Given the description of an element on the screen output the (x, y) to click on. 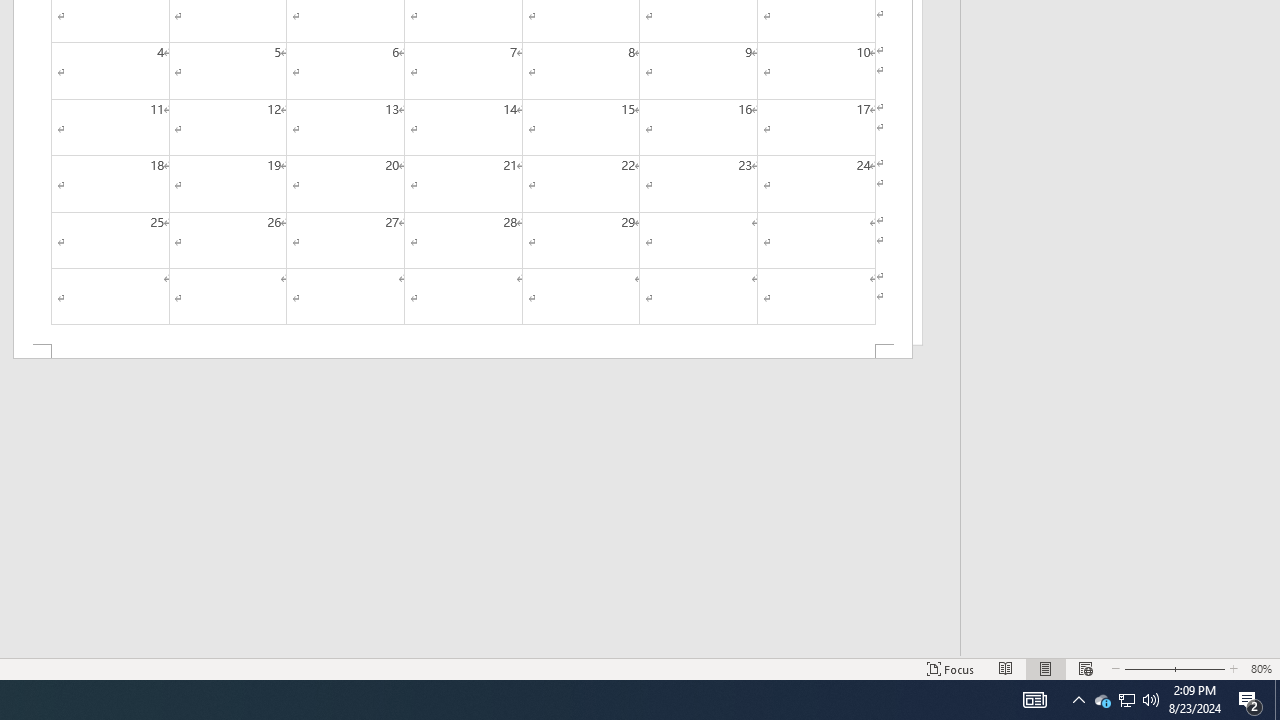
Zoom In (1195, 668)
Read Mode (1005, 668)
Web Layout (1085, 668)
Footer -Section 2- (462, 351)
Focus  (951, 668)
Print Layout (1046, 668)
Zoom Out (1143, 668)
